Given the description of an element on the screen output the (x, y) to click on. 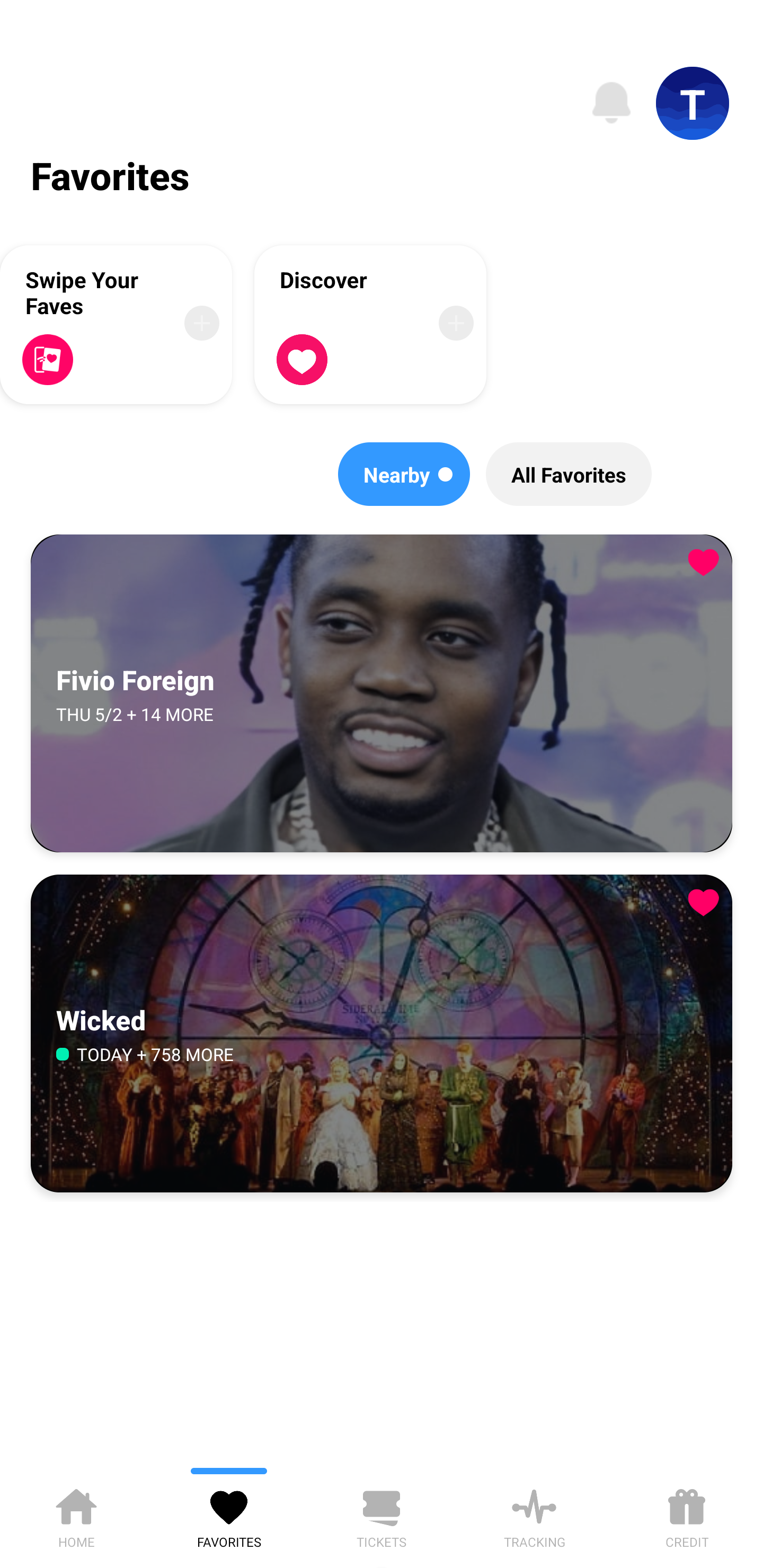
T (692, 103)
Swipe Your  Faves (115, 324)
Discover (370, 324)
Nearby (404, 474)
All Favorites (568, 474)
Wicked, TODAY + 758 MORE  Wicked TODAY + 758 MORE  (381, 1032)
HOME (76, 1515)
FAVORITES (228, 1515)
TICKETS (381, 1515)
TRACKING (533, 1515)
CREDIT (686, 1515)
